Given the description of an element on the screen output the (x, y) to click on. 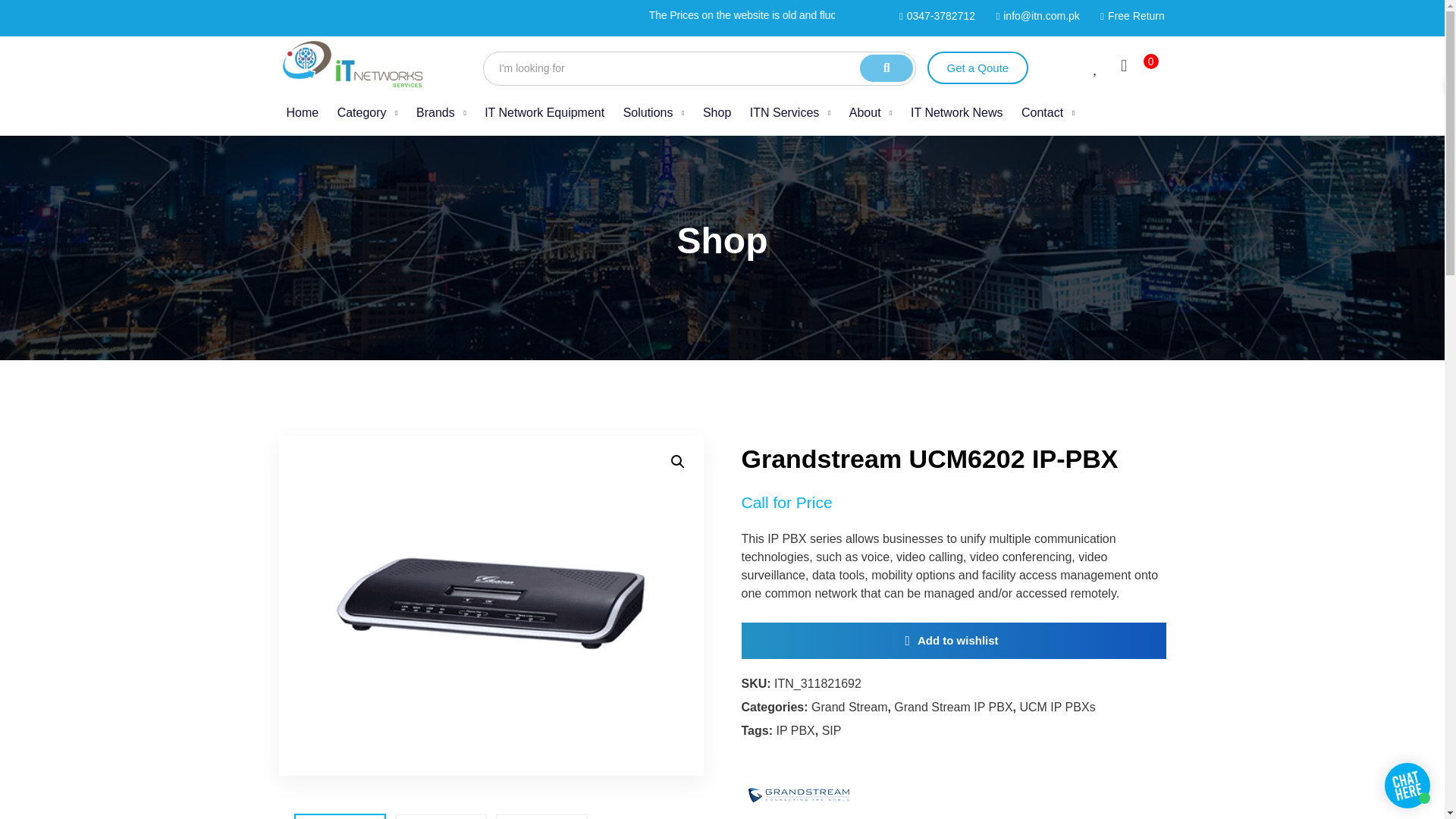
Category (367, 112)
GrandStream (798, 785)
Free Return (1128, 16)
Search (699, 68)
Get a Qoute (976, 67)
0347-3782712 (722, 66)
